Given the description of an element on the screen output the (x, y) to click on. 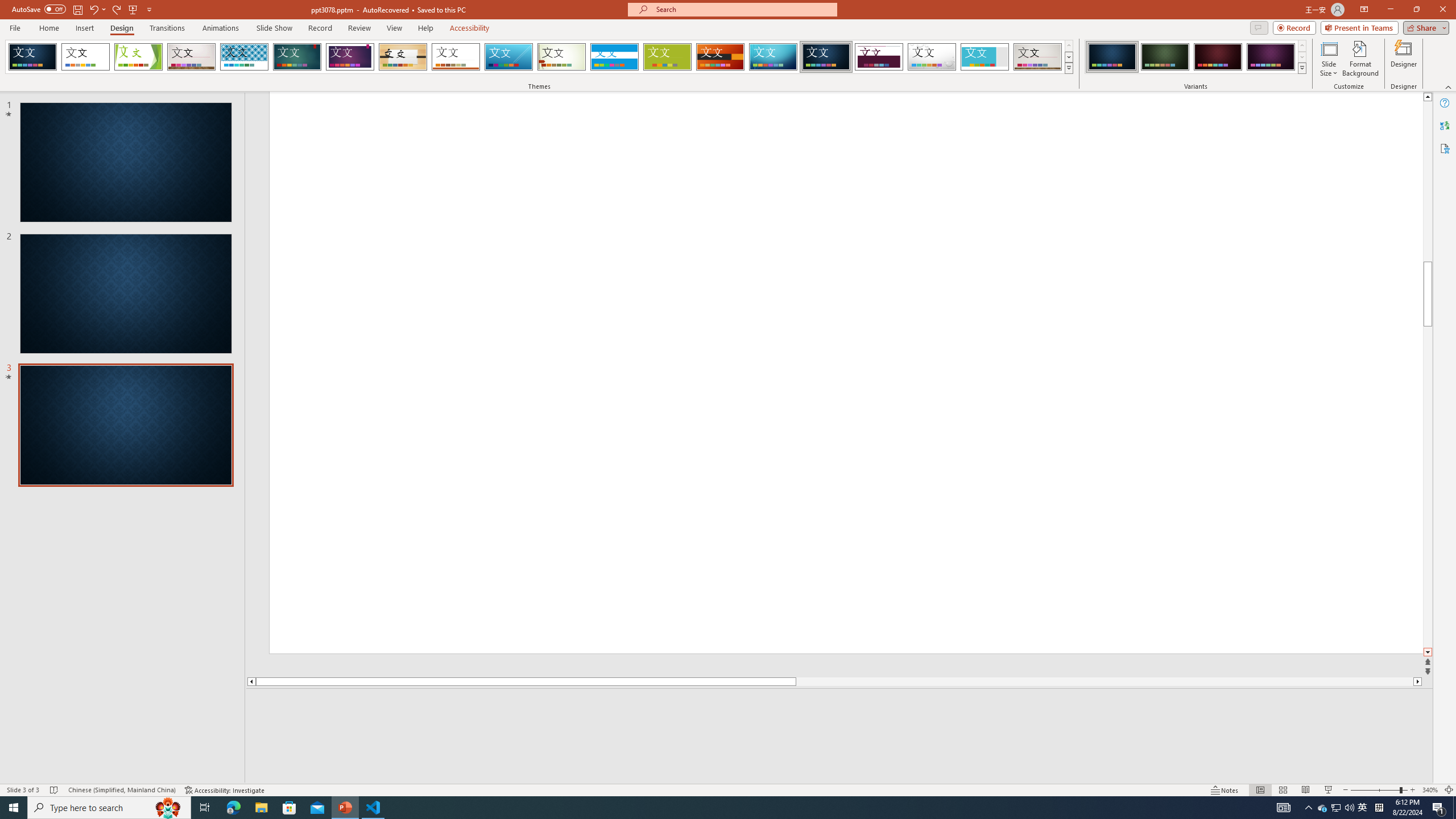
Frame (984, 56)
Banded (614, 56)
Berlin (720, 56)
Wisp (561, 56)
